Given the description of an element on the screen output the (x, y) to click on. 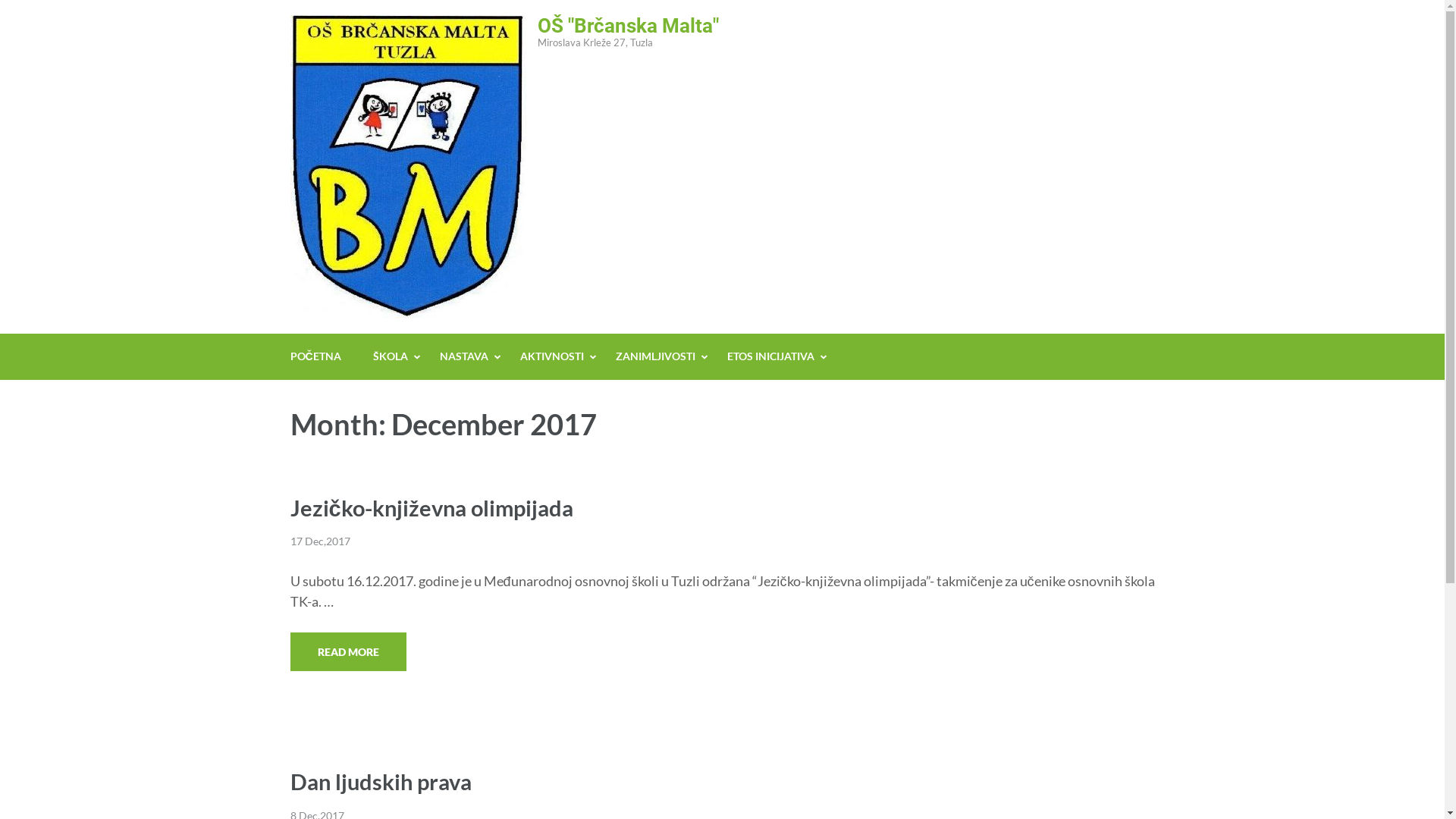
ZANIMLJIVOSTI Element type: text (655, 356)
Dan ljudskih prava Element type: text (379, 781)
READ MORE Element type: text (347, 651)
AKTIVNOSTI Element type: text (551, 356)
17 Dec,2017 Element type: text (319, 540)
NASTAVA Element type: text (463, 356)
ETOS INICIJATIVA Element type: text (770, 356)
